Given the description of an element on the screen output the (x, y) to click on. 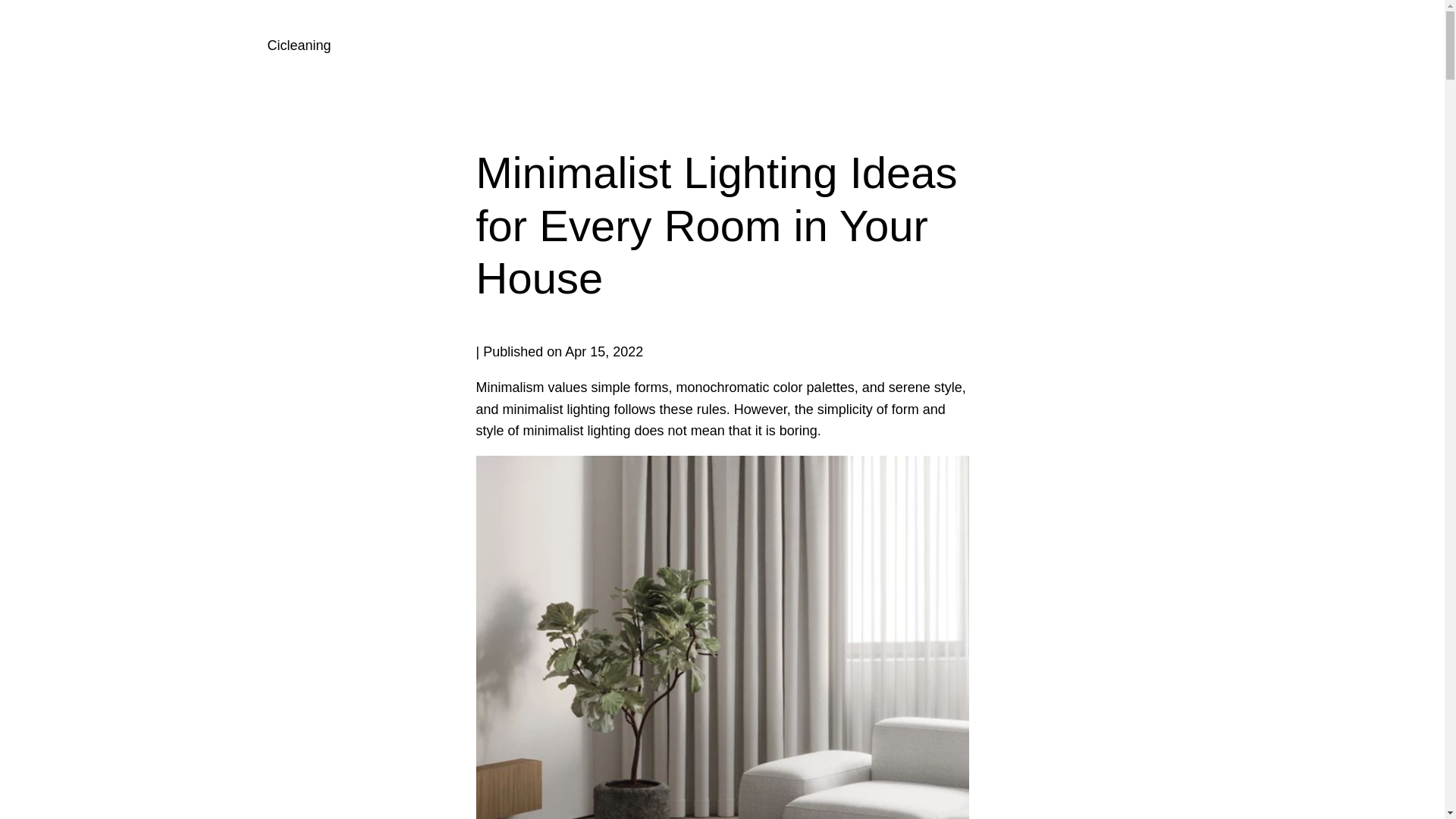
Rachel Brown (722, 352)
Cicleaning (298, 45)
